Given the description of an element on the screen output the (x, y) to click on. 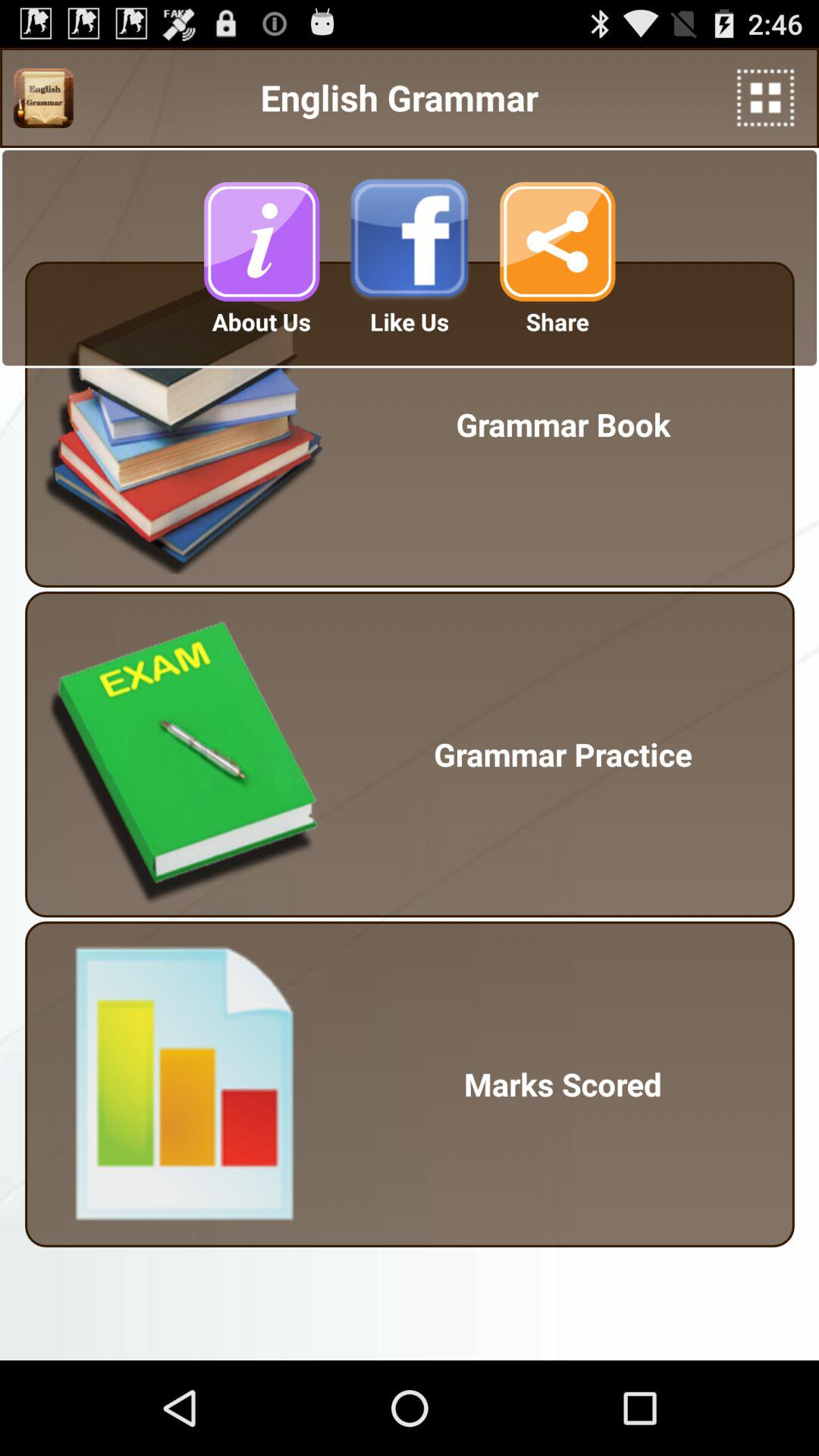
more options (765, 97)
